Given the description of an element on the screen output the (x, y) to click on. 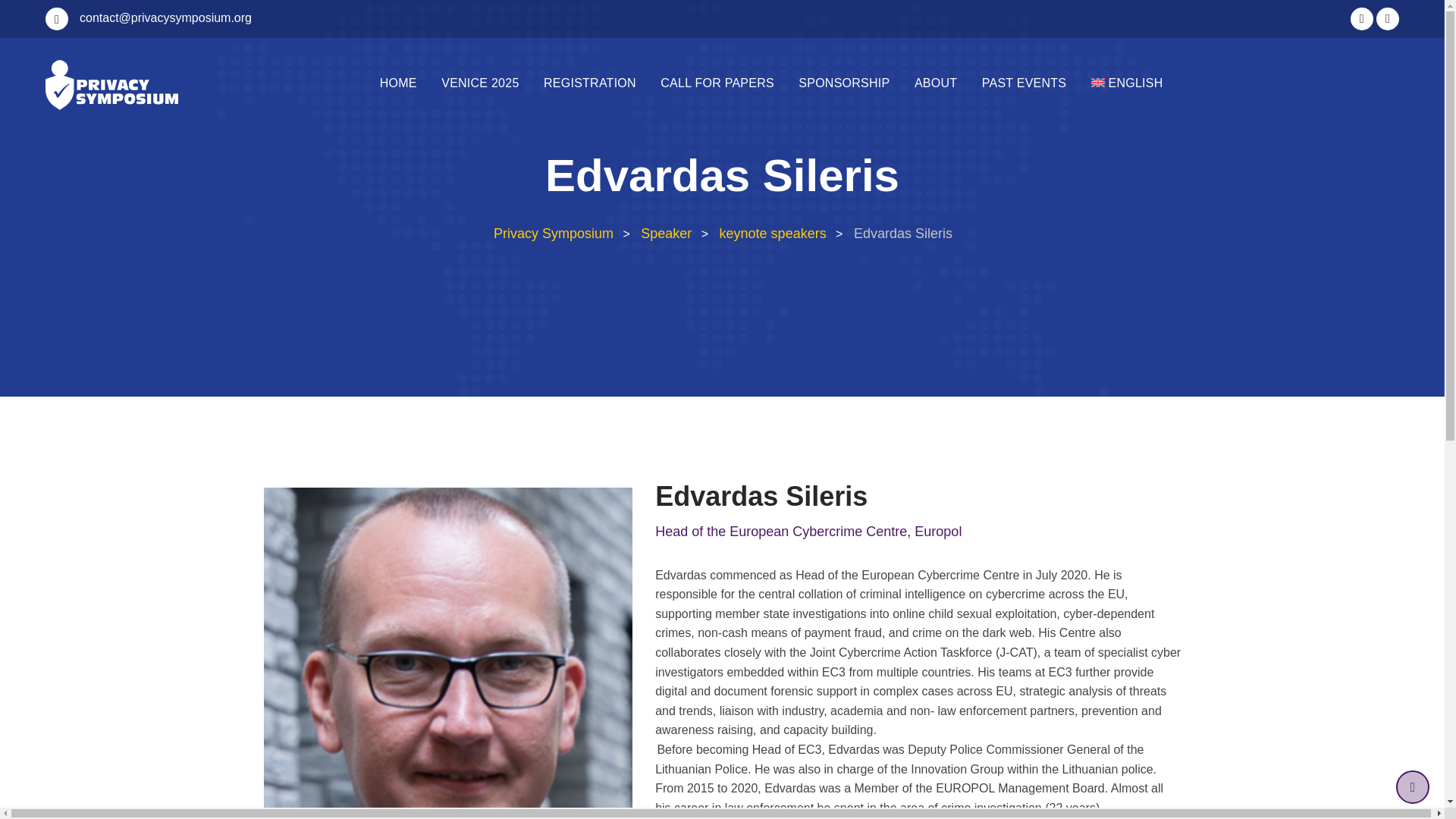
SPONSORSHIP (843, 83)
REGISTRATION (589, 83)
English (1126, 83)
ABOUT (936, 83)
Go to the keynote speakers Speaker Category archives. (772, 233)
VENICE 2025 (479, 83)
Go to Privacy Symposium. (552, 233)
PAST EVENTS (1024, 83)
Go to Speaker. (665, 233)
CALL FOR PAPERS (716, 83)
